Given the description of an element on the screen output the (x, y) to click on. 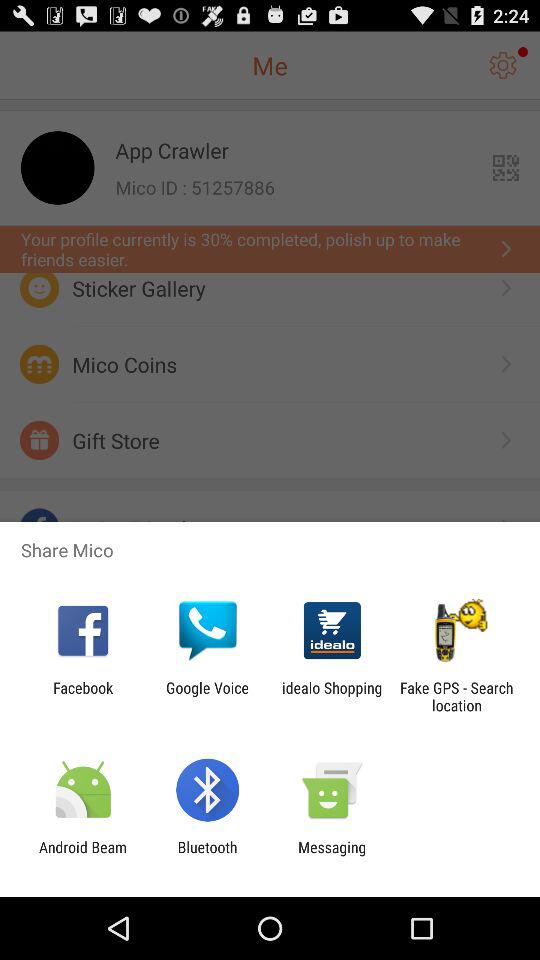
swipe to google voice (207, 696)
